Given the description of an element on the screen output the (x, y) to click on. 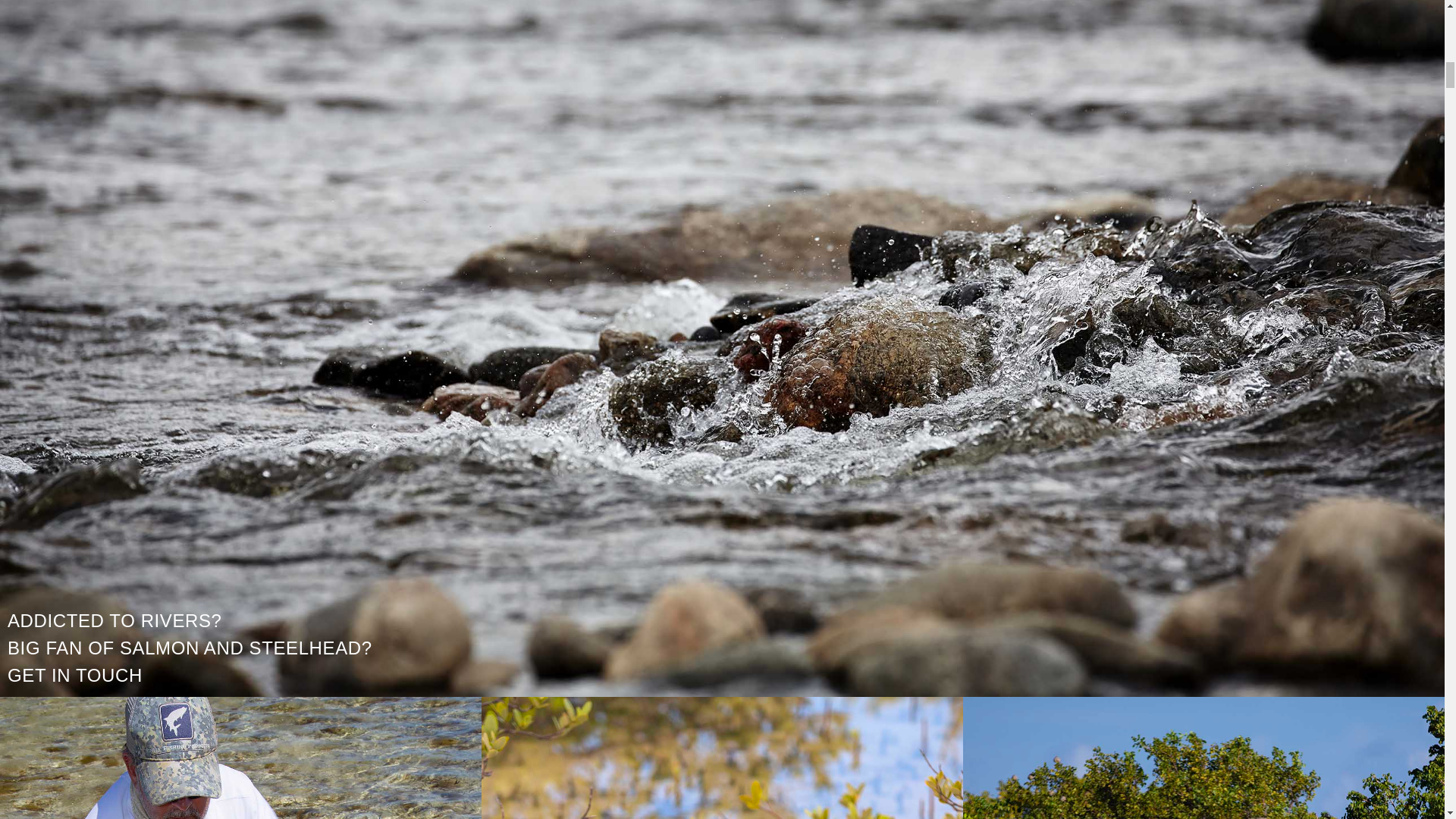
WE LOVE BONEFISH (240, 757)
JOIN US (721, 757)
